Given the description of an element on the screen output the (x, y) to click on. 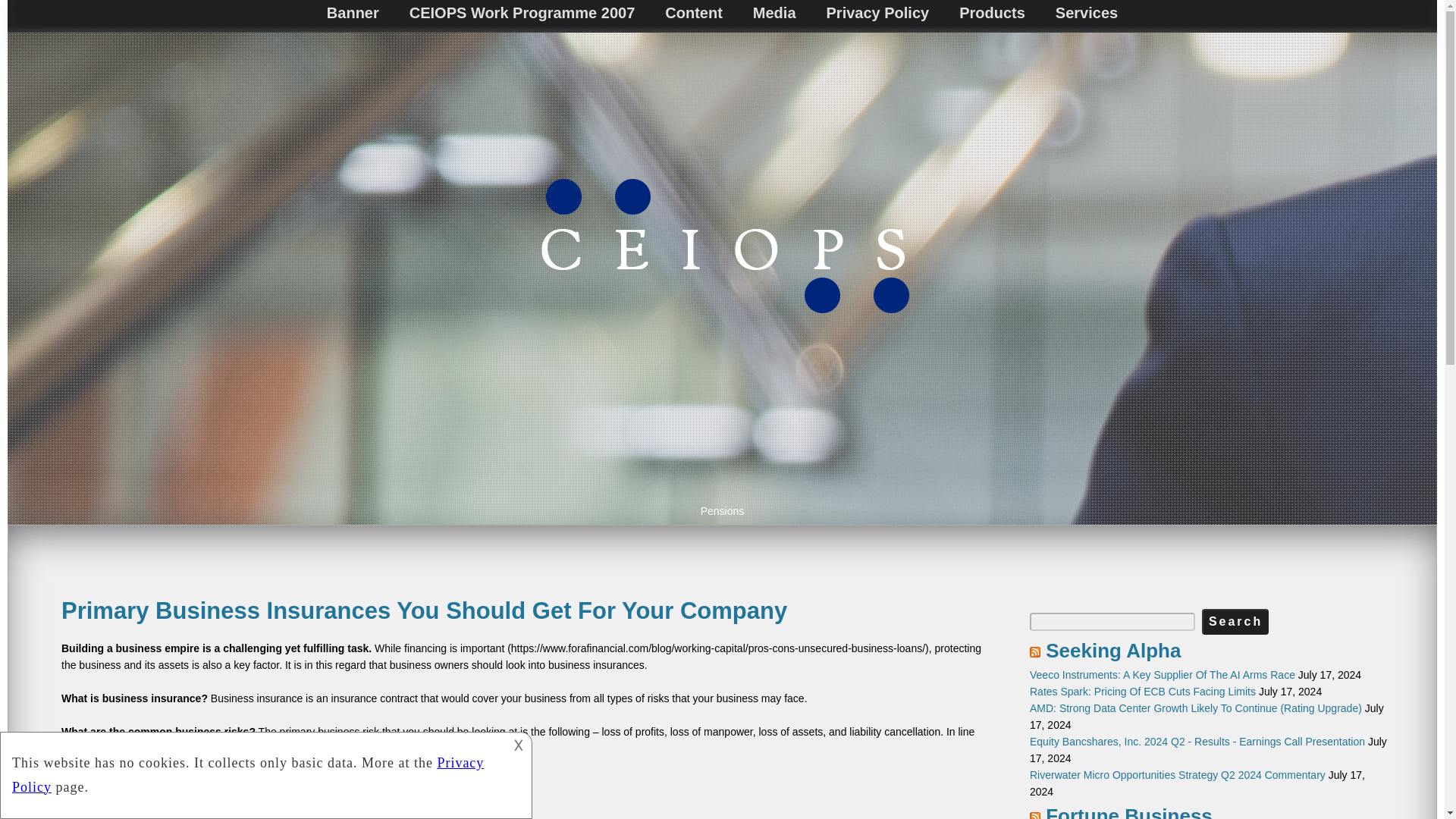
Rates Spark: Pricing Of ECB Cuts Facing Limits (1142, 691)
Veeco Instruments: A Key Supplier Of The AI Arms Race (1162, 674)
description (264, 773)
Banner (352, 13)
Products (992, 13)
CEIOPS Work Programme 2007 (522, 13)
Content (693, 13)
Services (1086, 13)
Primary Business Insurances You Should Get For Your Company (424, 610)
Search (1235, 621)
Privacy Policy (877, 13)
Media (774, 13)
Search (1235, 621)
Riverwater Micro Opportunities Strategy Q2 2024 Commentary (1176, 775)
